Given the description of an element on the screen output the (x, y) to click on. 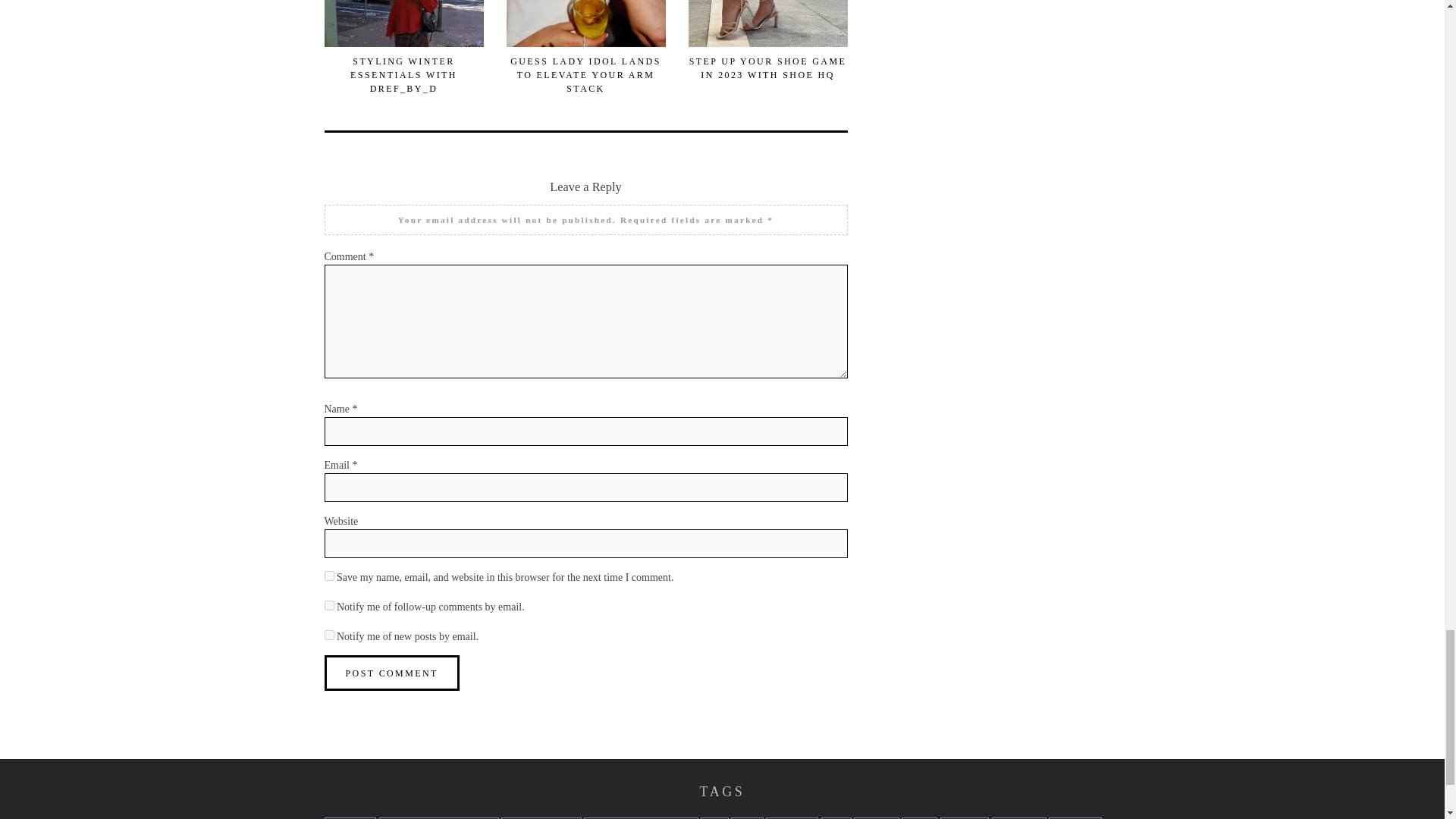
yes (329, 575)
subscribe (329, 605)
Post Comment (392, 673)
subscribe (329, 634)
